Given the description of an element on the screen output the (x, y) to click on. 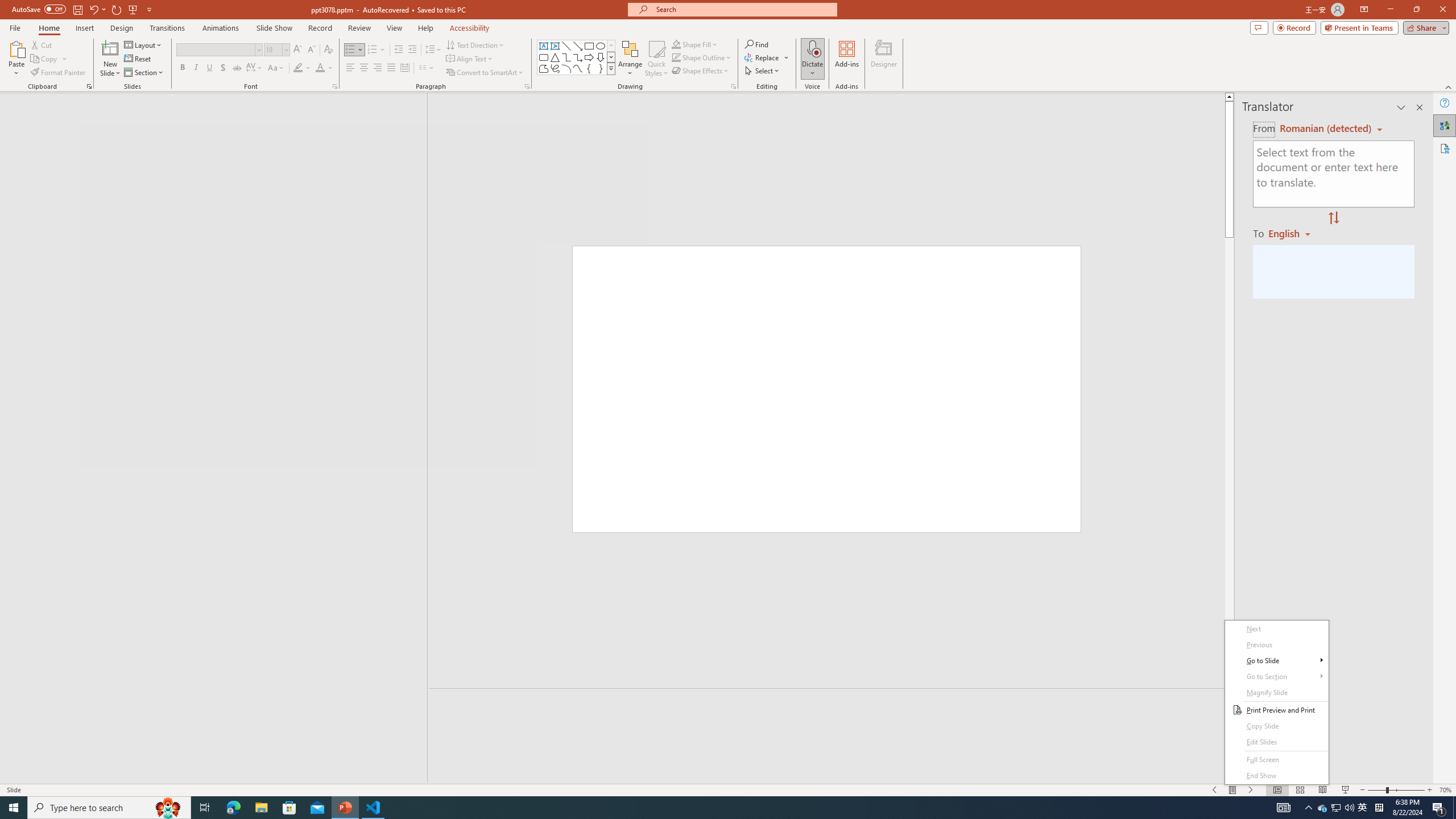
Context Menu (1276, 701)
Microsoft Edge (233, 807)
Action Center, 1 new notification (1439, 807)
